Given the description of an element on the screen output the (x, y) to click on. 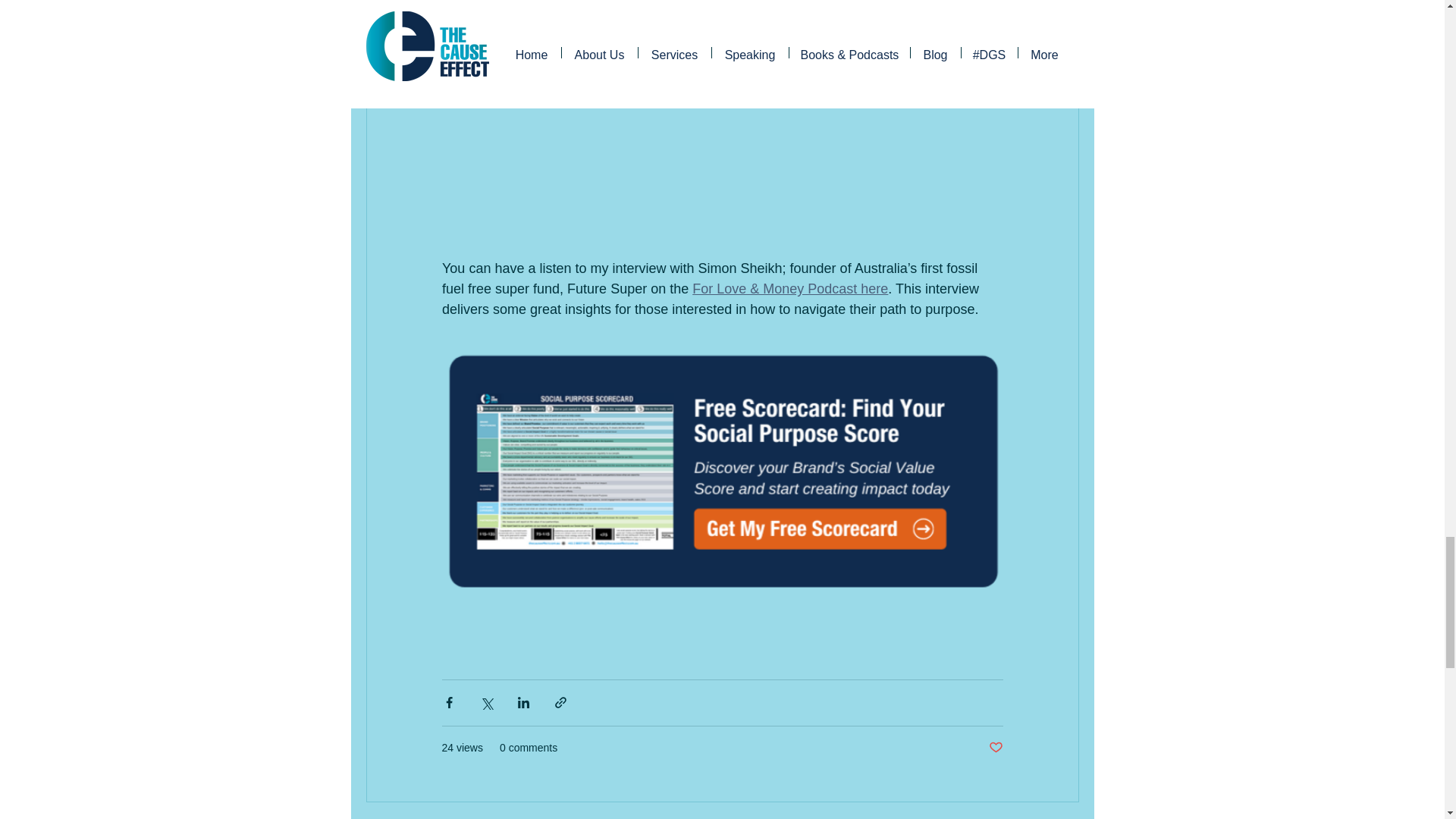
Post not marked as liked (995, 747)
